Given the description of an element on the screen output the (x, y) to click on. 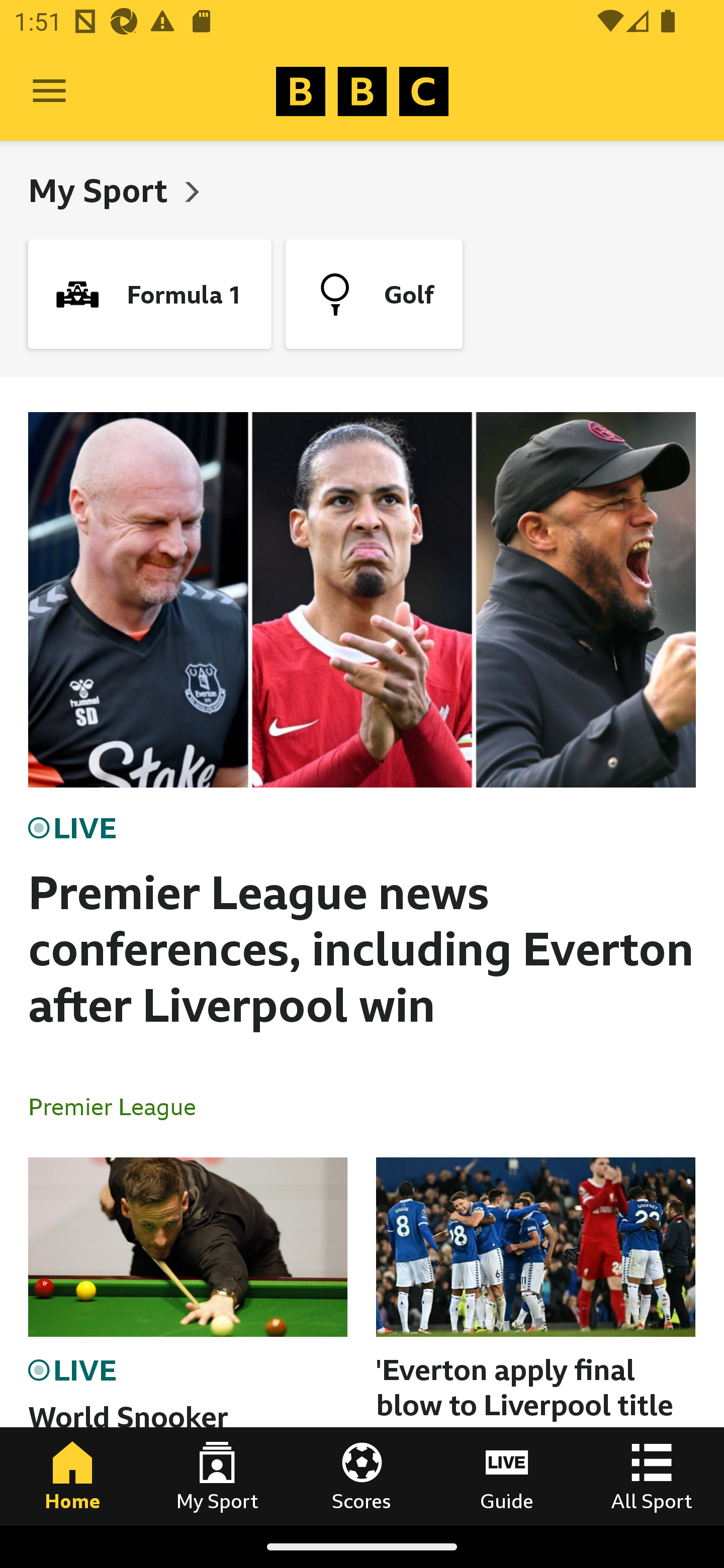
Open Menu (49, 91)
My Sport (101, 190)
Premier League In the section Premier League (119, 1106)
My Sport (216, 1475)
Scores (361, 1475)
Guide (506, 1475)
All Sport (651, 1475)
